Given the description of an element on the screen output the (x, y) to click on. 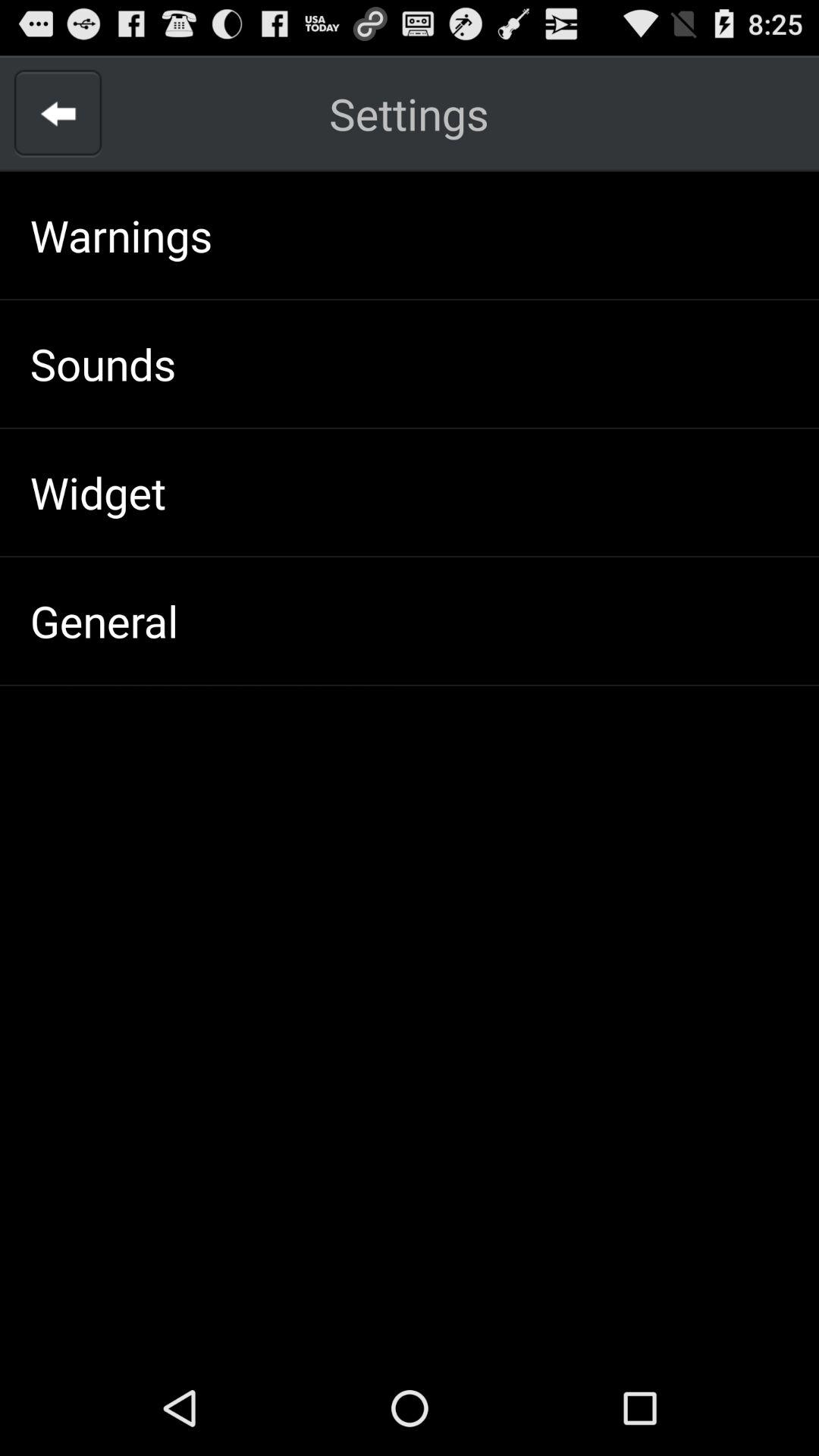
back (57, 113)
